Given the description of an element on the screen output the (x, y) to click on. 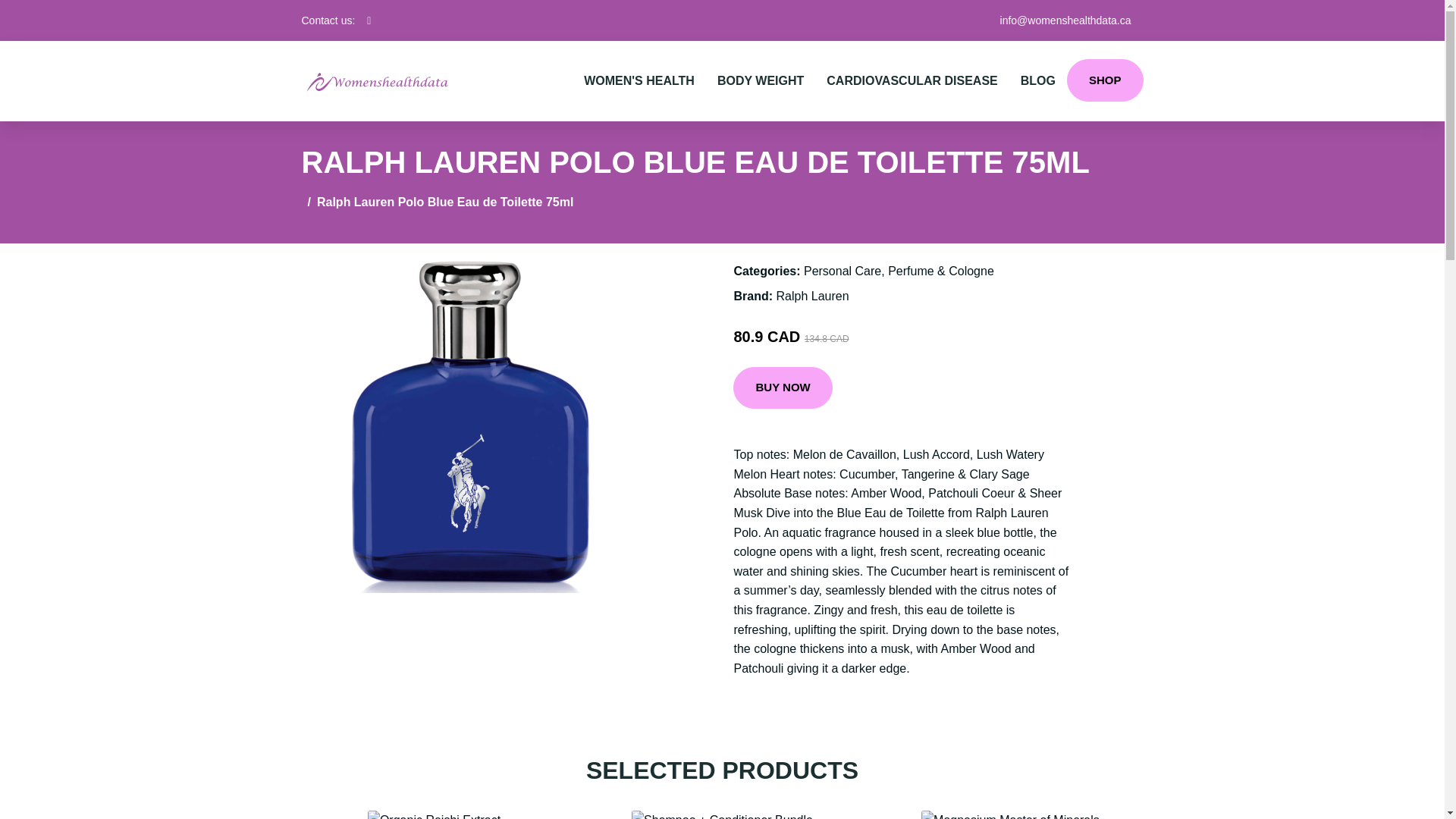
Personal Care (841, 270)
WOMEN'S HEALTH (639, 80)
CARDIOVASCULAR DISEASE (912, 80)
SHOP (1104, 79)
BODY WEIGHT (760, 80)
BUY NOW (782, 387)
